Given the description of an element on the screen output the (x, y) to click on. 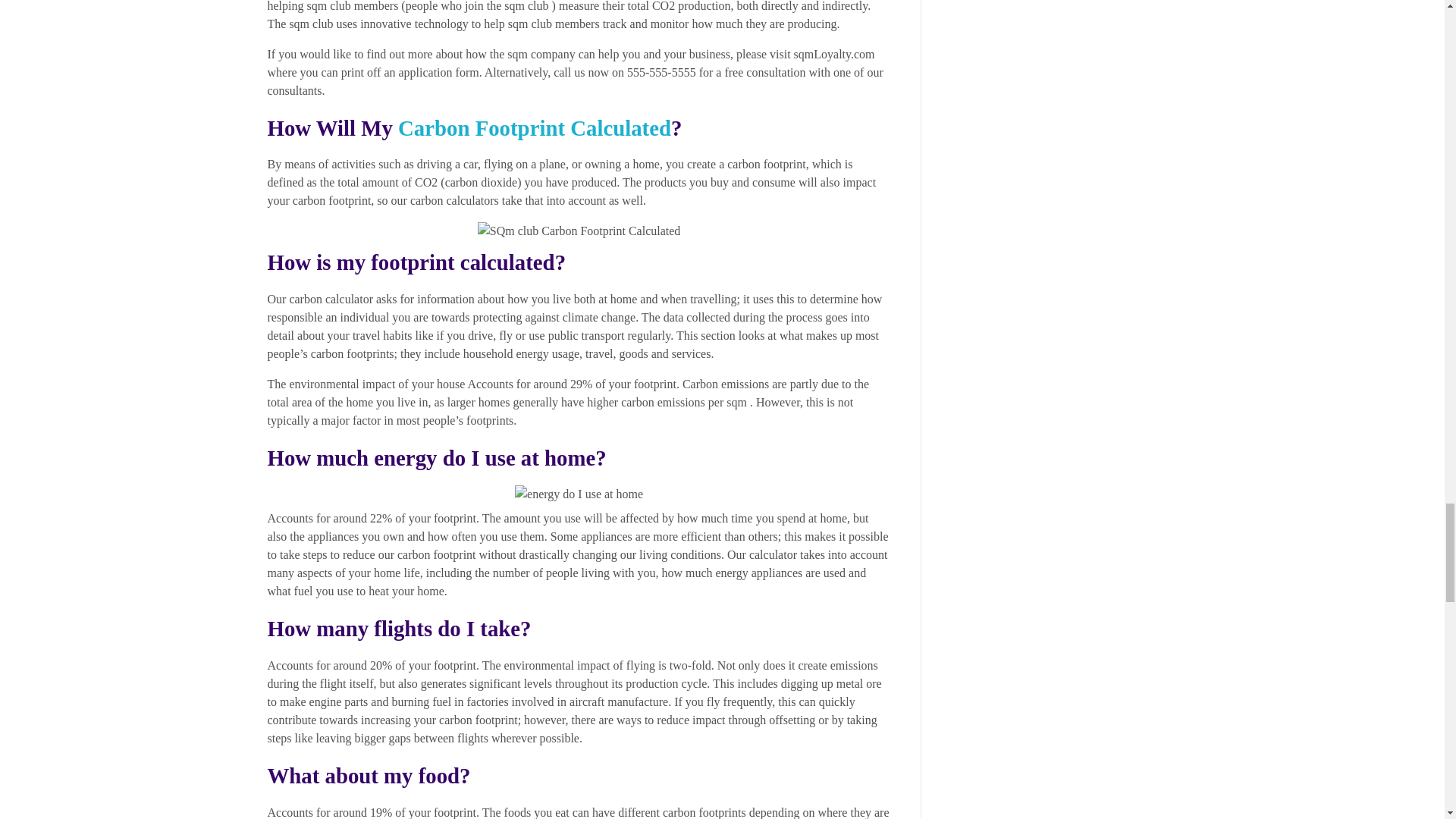
Carbon Footprint Calculated (534, 128)
